Given the description of an element on the screen output the (x, y) to click on. 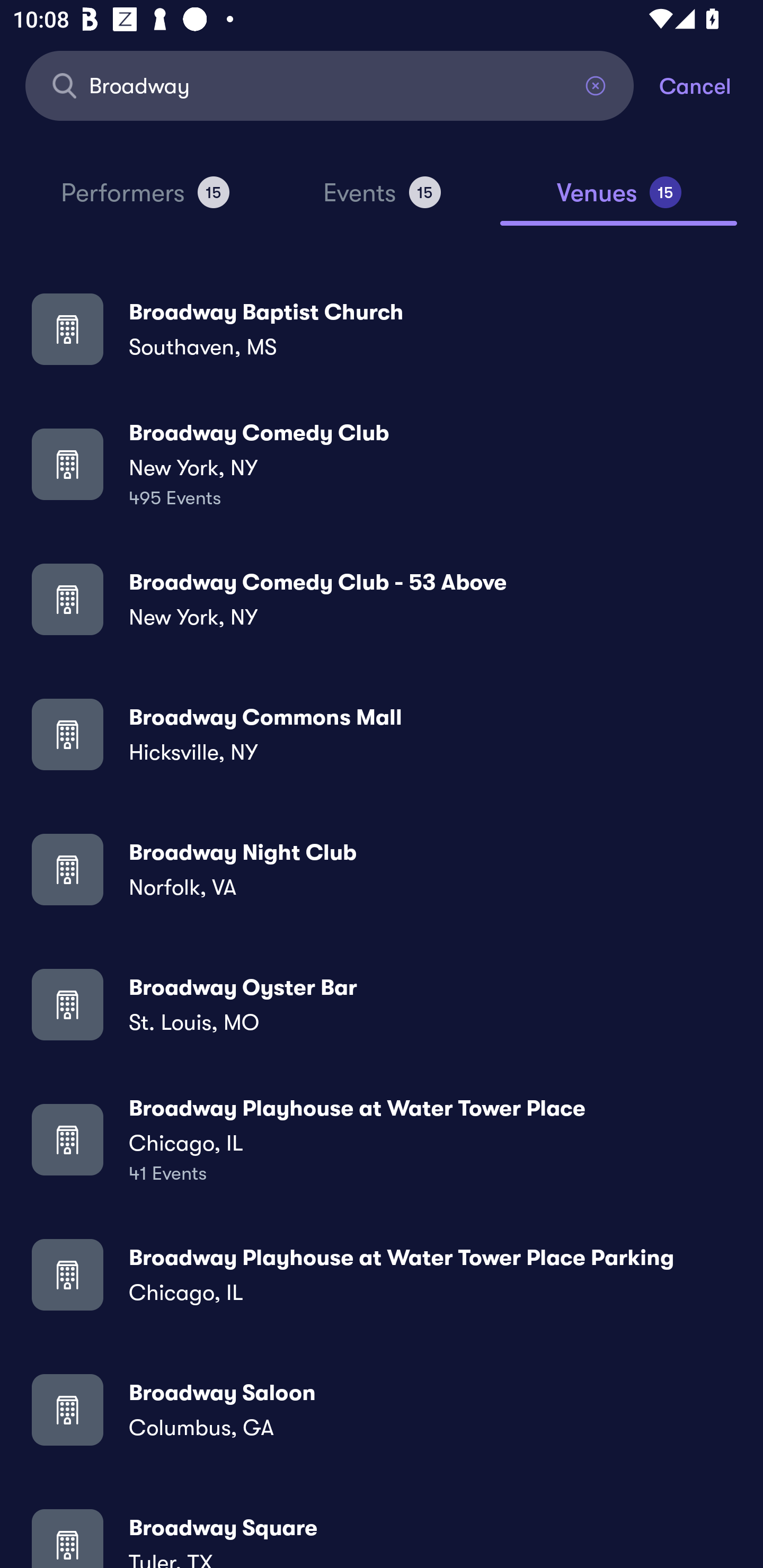
Broadway Find (329, 85)
Broadway Find (329, 85)
Cancel (711, 85)
Performers 15 (144, 200)
Events 15 (381, 200)
Venues 15 (618, 200)
Broadway Baptist Church Southaven, MS (381, 328)
Broadway Comedy Club New York, NY 495 Events (381, 464)
Broadway Comedy Club - 53 Above New York, NY (381, 598)
Broadway Commons Mall Hicksville, NY (381, 734)
Broadway Night Club Norfolk, VA (381, 869)
Broadway Oyster Bar St. Louis, MO (381, 1004)
Broadway Saloon Columbus, GA (381, 1409)
Broadway Square Tyler, TX (381, 1532)
